Given the description of an element on the screen output the (x, y) to click on. 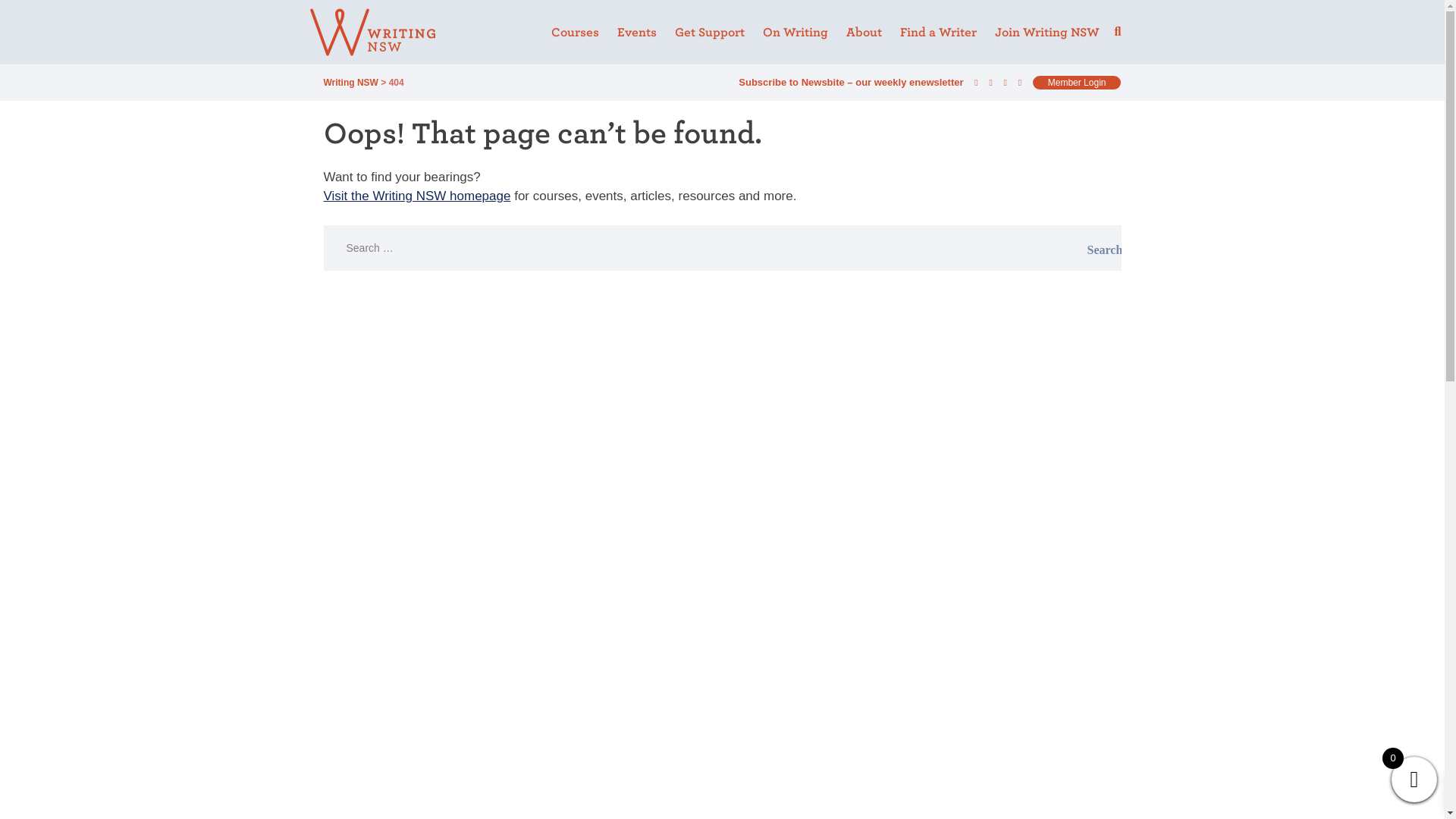
Search (1086, 248)
Events (636, 32)
On Writing (795, 32)
About (863, 32)
Courses (574, 32)
Search (1086, 248)
Go to Writing NSW. (350, 81)
Get Support (709, 32)
